Given the description of an element on the screen output the (x, y) to click on. 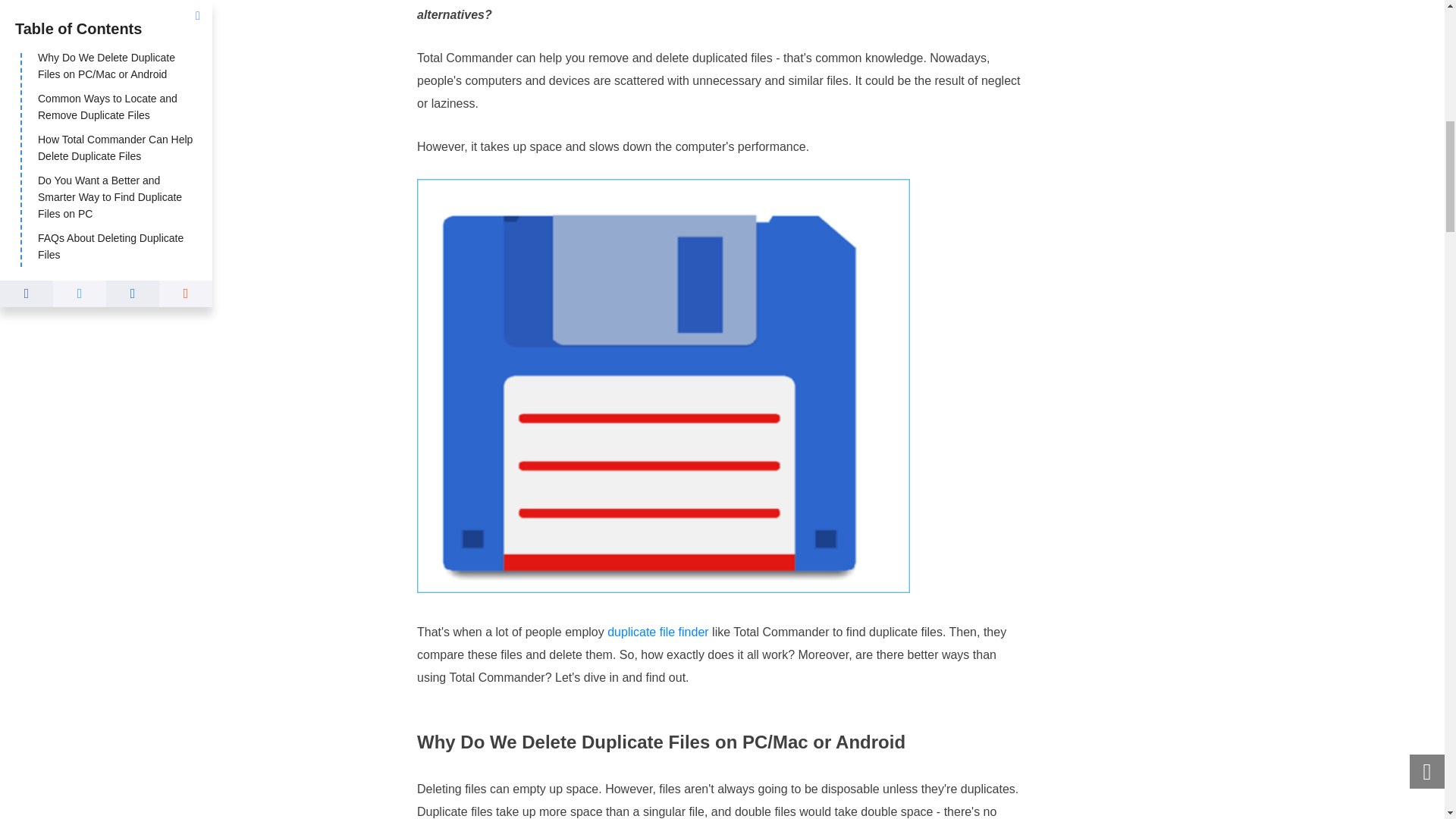
duplicate file finder (657, 631)
